Given the description of an element on the screen output the (x, y) to click on. 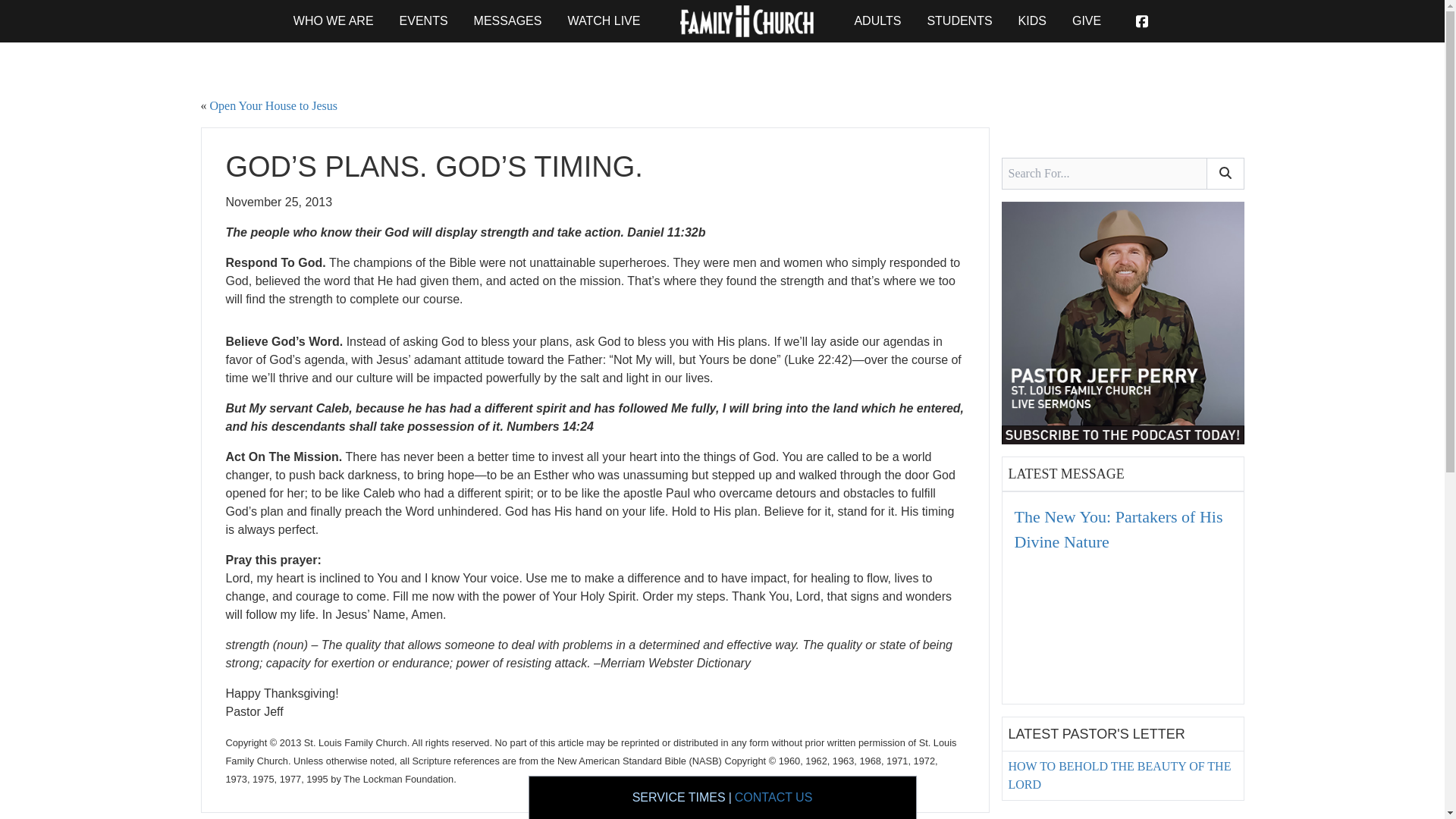
MESSAGES (507, 21)
GIVE (1085, 20)
Blubrry Podcast Player (1122, 628)
ADULTS (877, 20)
WHO WE ARE (334, 20)
EVENTS (423, 20)
KIDS (1031, 20)
WATCH LIVE (603, 20)
STUDENTS (958, 20)
